Given the description of an element on the screen output the (x, y) to click on. 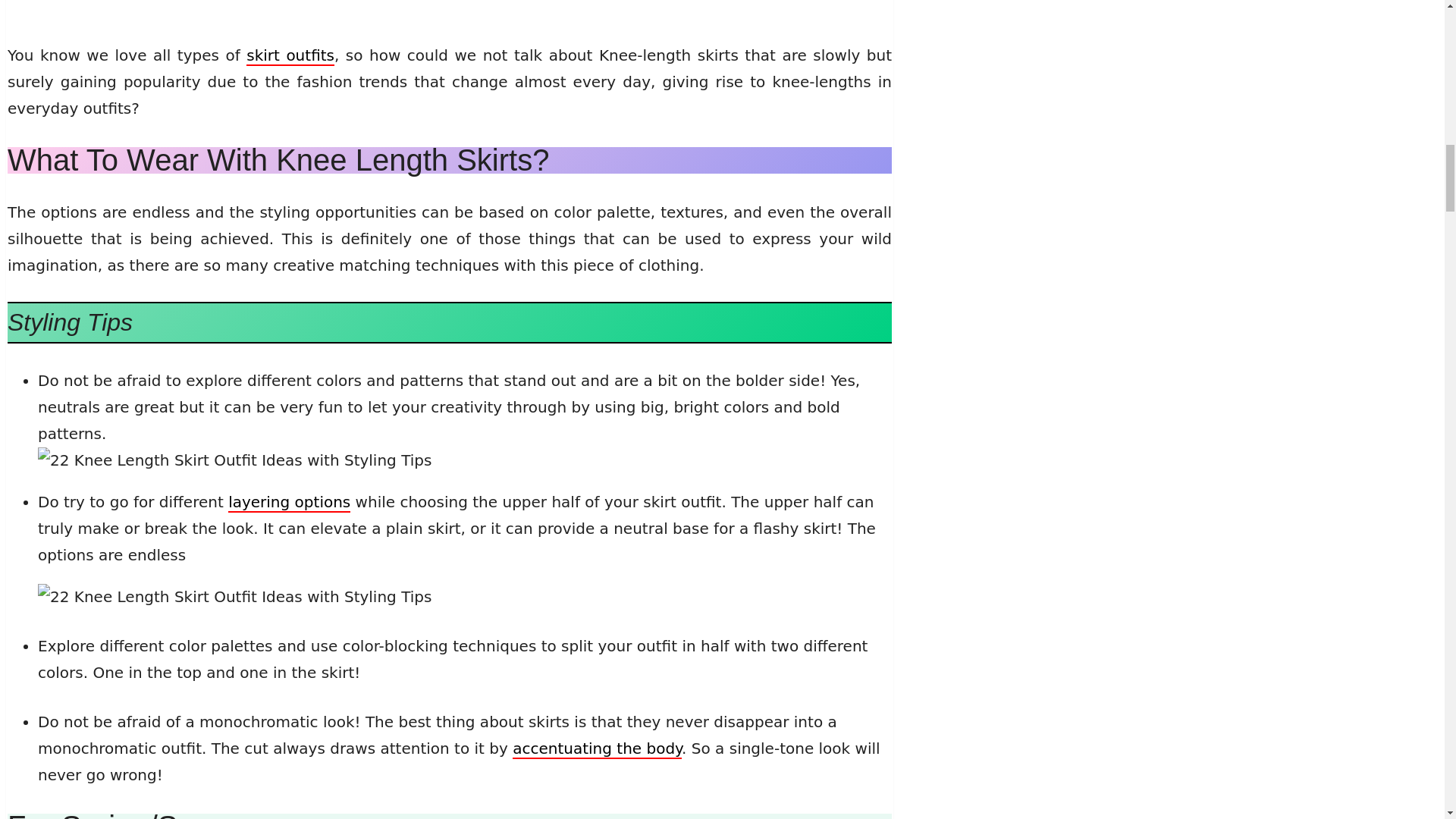
22 Knee Length Skirt Outfit Ideas with Styling Tips (233, 596)
27 Ways to Layer Your Clothes like Pro-How to Layer Outfits (289, 502)
22 Knee Length Skirt Outfit Ideas with Styling Tips (233, 460)
